Given the description of an element on the screen output the (x, y) to click on. 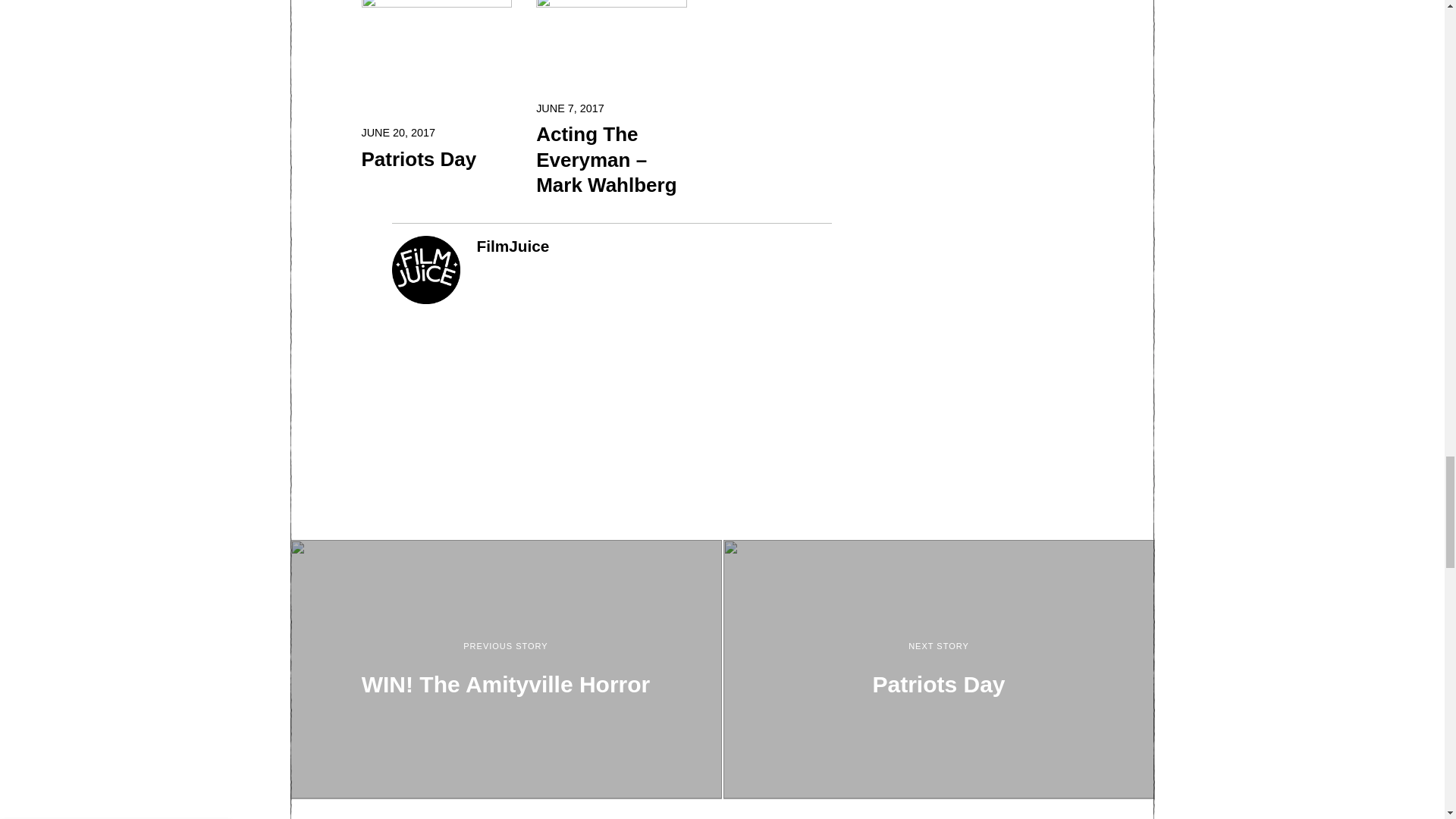
Patriots Day (436, 159)
FilmJuice (512, 245)
20 Jun, 2017 07:56:43 (398, 132)
07 Jun, 2017 12:44:03 (569, 108)
